Given the description of an element on the screen output the (x, y) to click on. 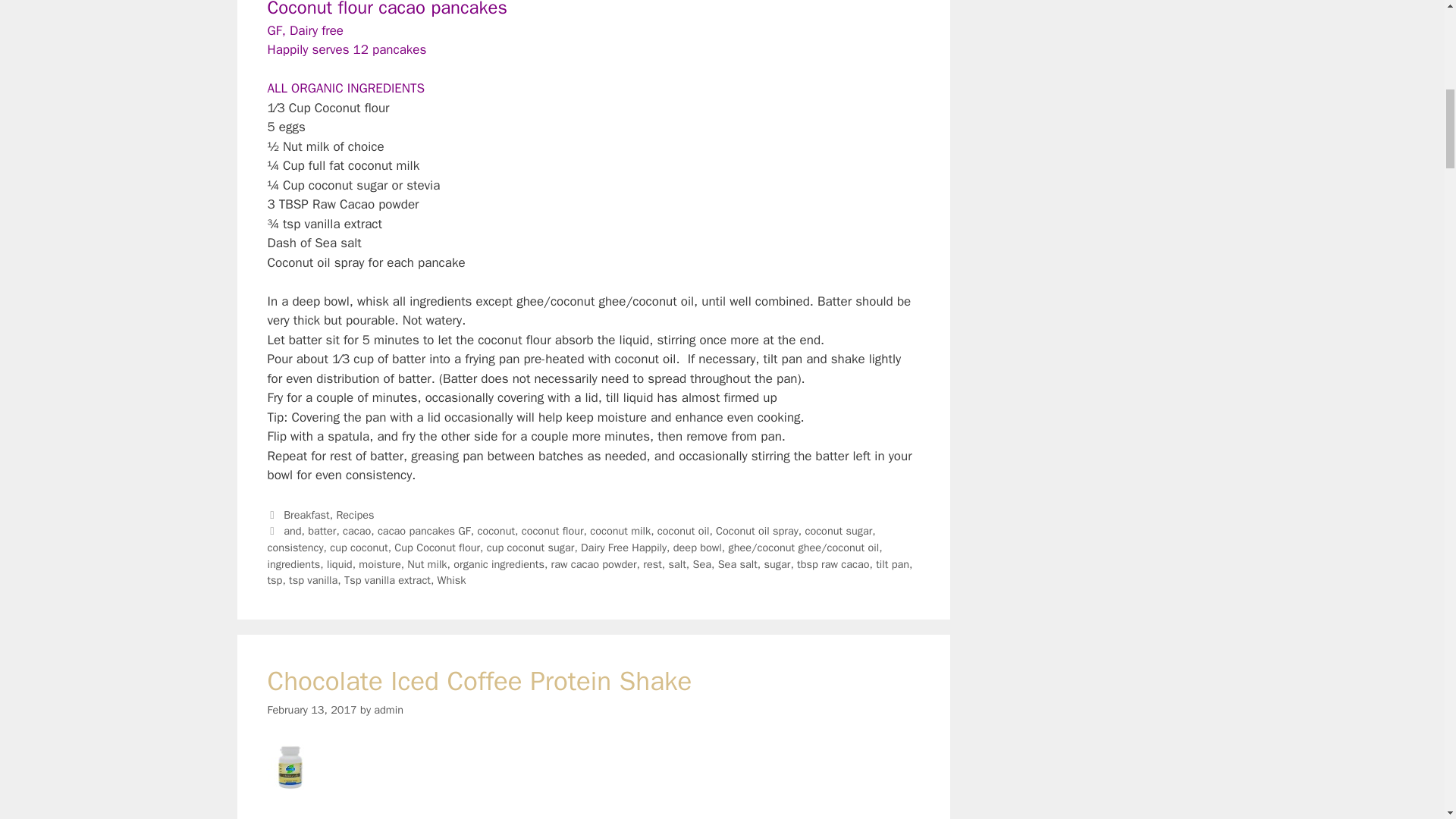
consistency (294, 547)
View all posts by admin (388, 709)
cacao pancakes GF (423, 530)
Nut milk (426, 563)
cacao (356, 530)
raw cacao powder (594, 563)
coconut (496, 530)
coconut oil (684, 530)
Dairy Free Happily (623, 547)
coconut flour (552, 530)
cup coconut (358, 547)
organic ingredients (498, 563)
batter (321, 530)
moisture (379, 563)
